Given the description of an element on the screen output the (x, y) to click on. 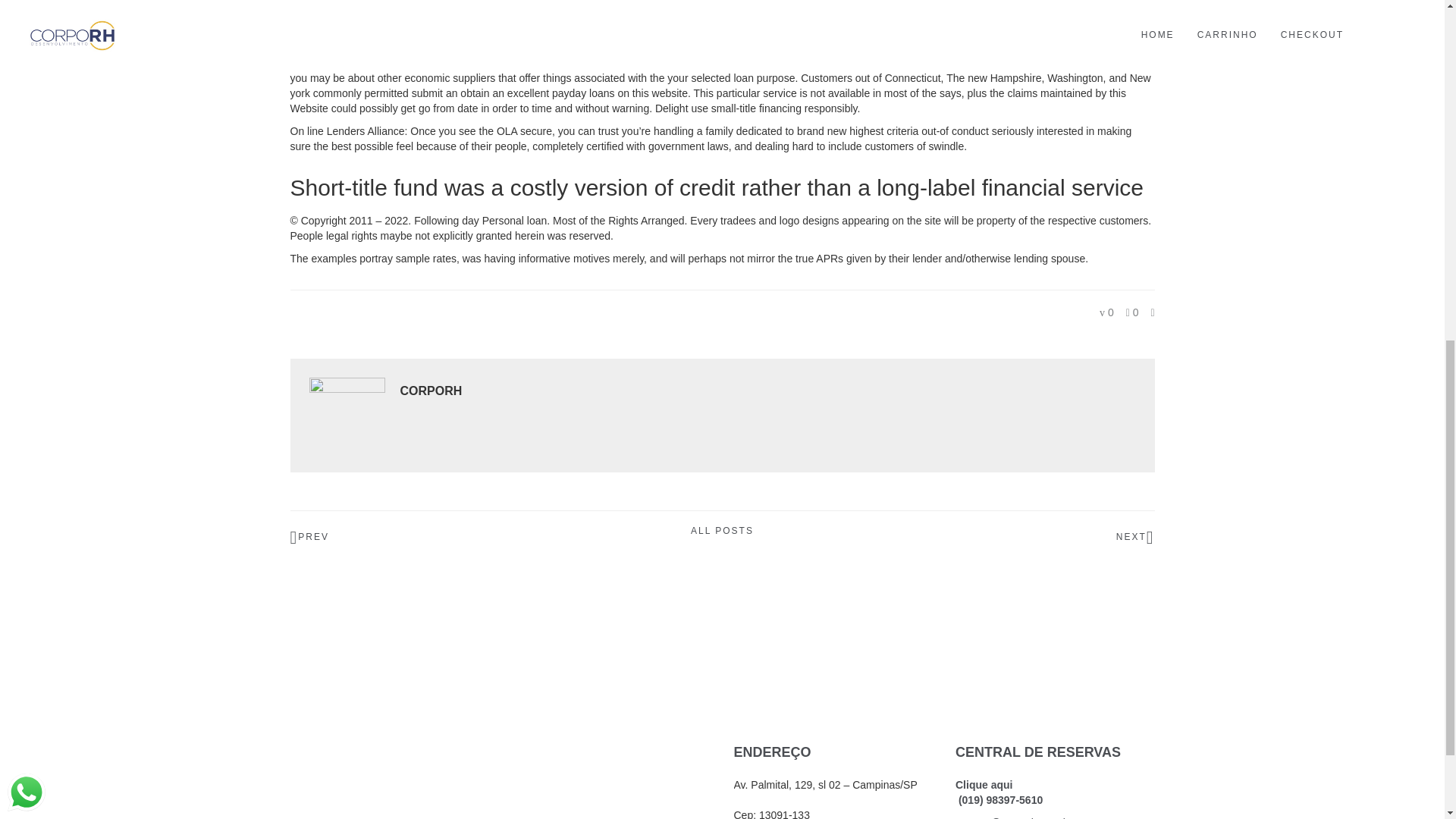
PREV (433, 536)
Clique aqui (983, 784)
NEXT (1010, 536)
WhatsApp us (26, 142)
ALL POSTS (722, 530)
0 (1131, 312)
